Given the description of an element on the screen output the (x, y) to click on. 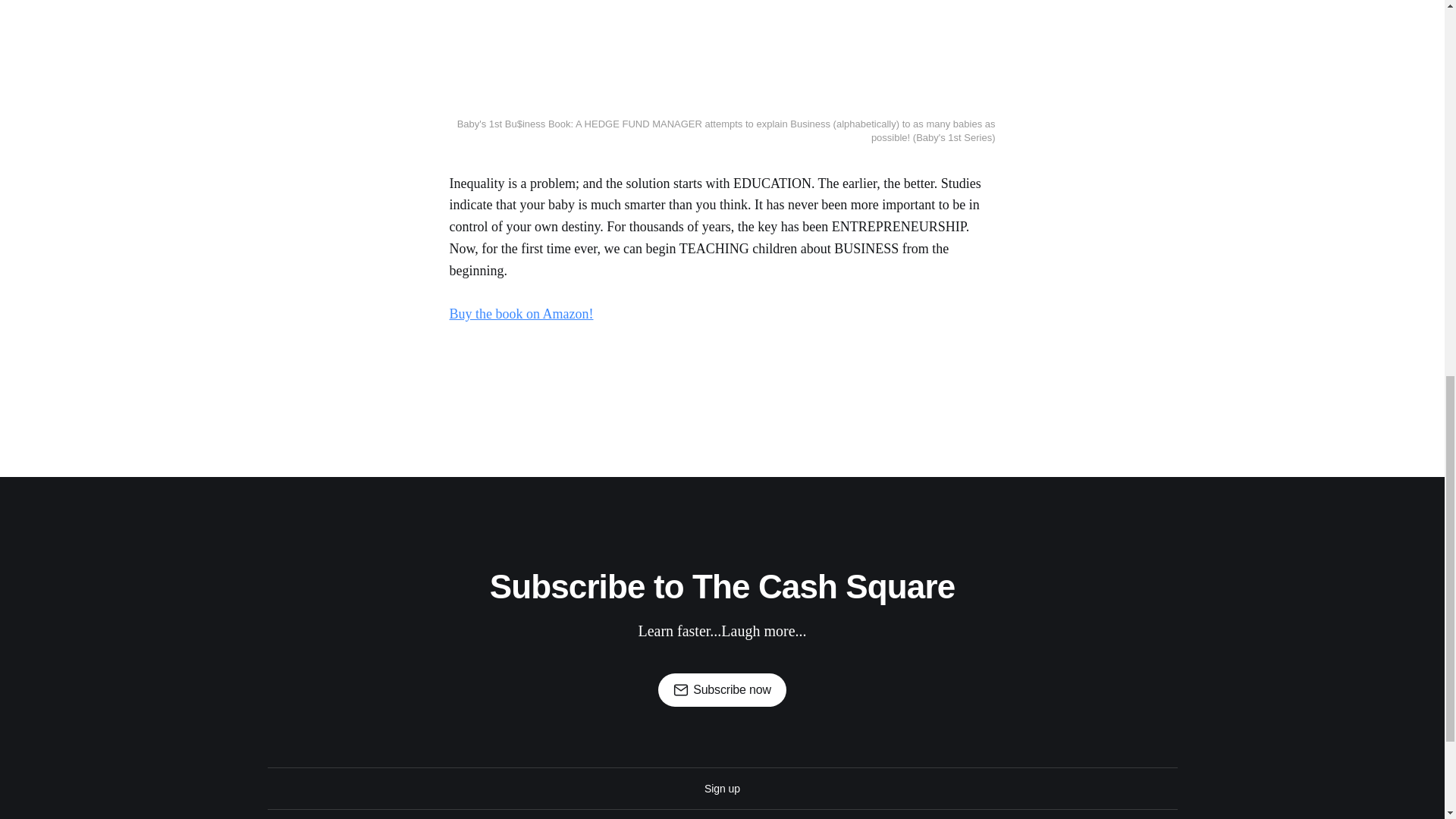
Buy the book on Amazon! (520, 313)
Subscribe now (722, 689)
Sign up (721, 788)
